Given the description of an element on the screen output the (x, y) to click on. 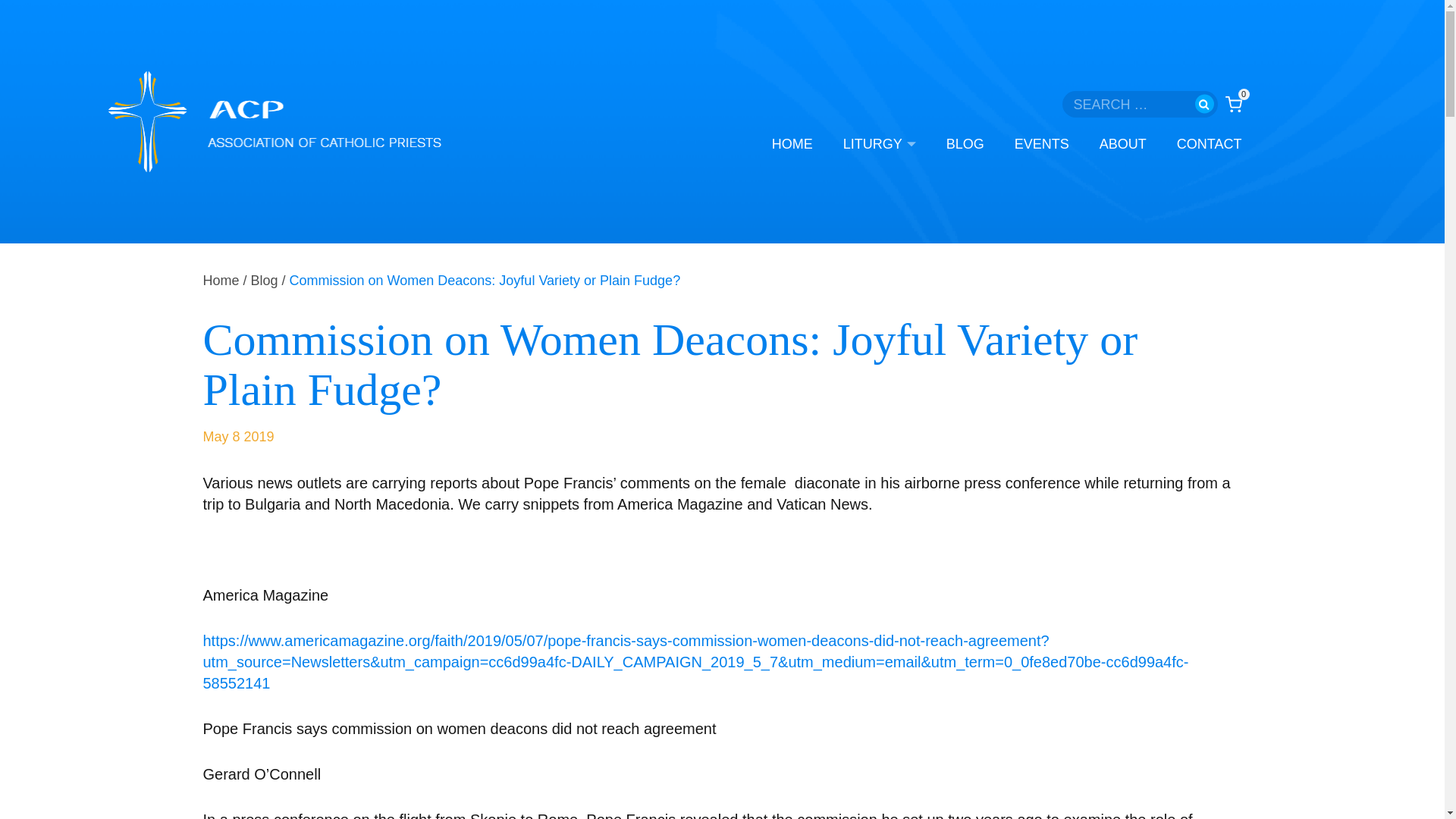
ABOUT (1123, 144)
LITURGY (879, 144)
Home (221, 280)
HOME (791, 144)
BLOG (965, 144)
Blog (264, 280)
EVENTS (1041, 144)
0 (1233, 103)
CONTACT (1208, 144)
